Given the description of an element on the screen output the (x, y) to click on. 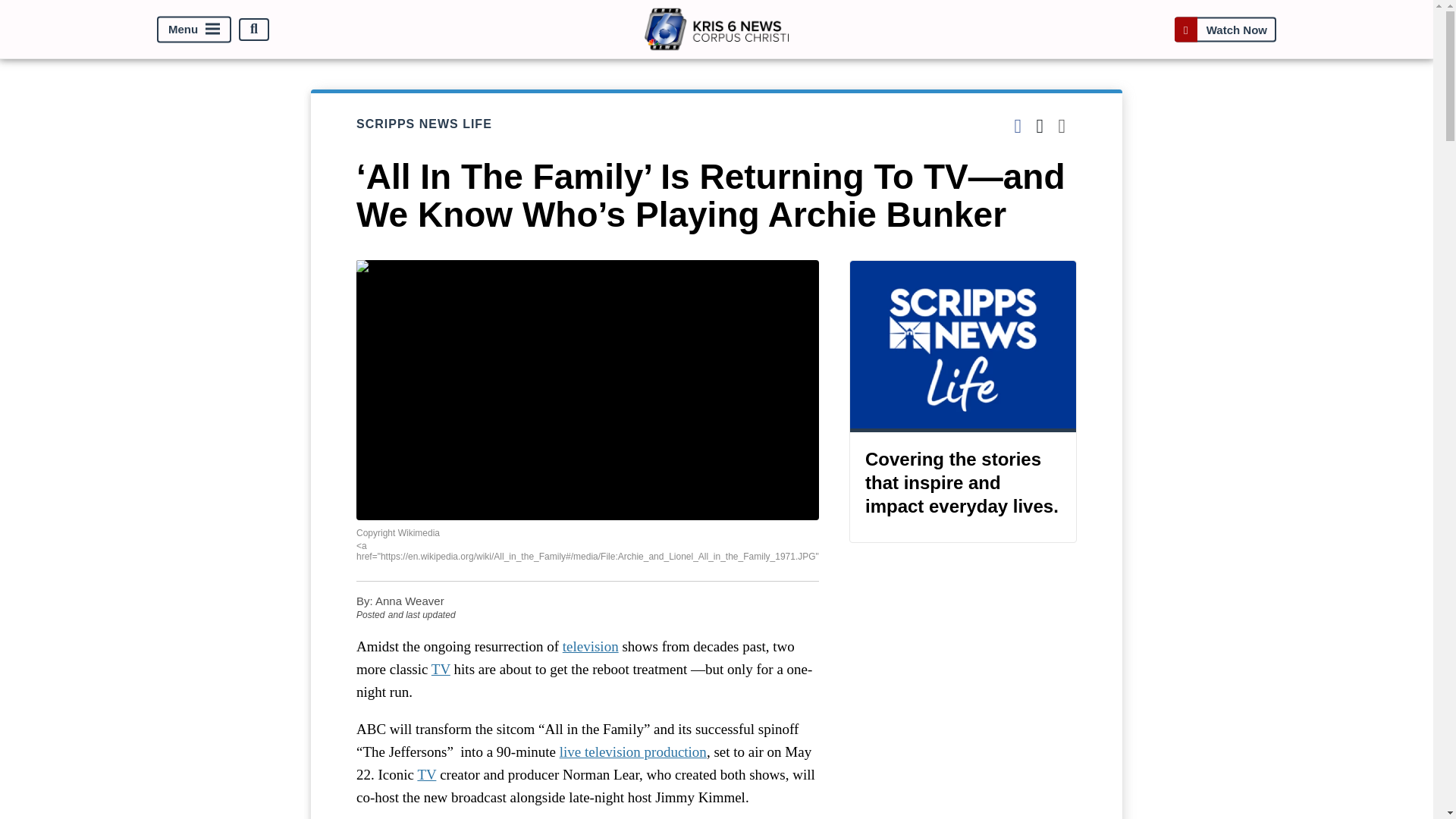
Watch Now (1224, 29)
Menu (194, 28)
